Given the description of an element on the screen output the (x, y) to click on. 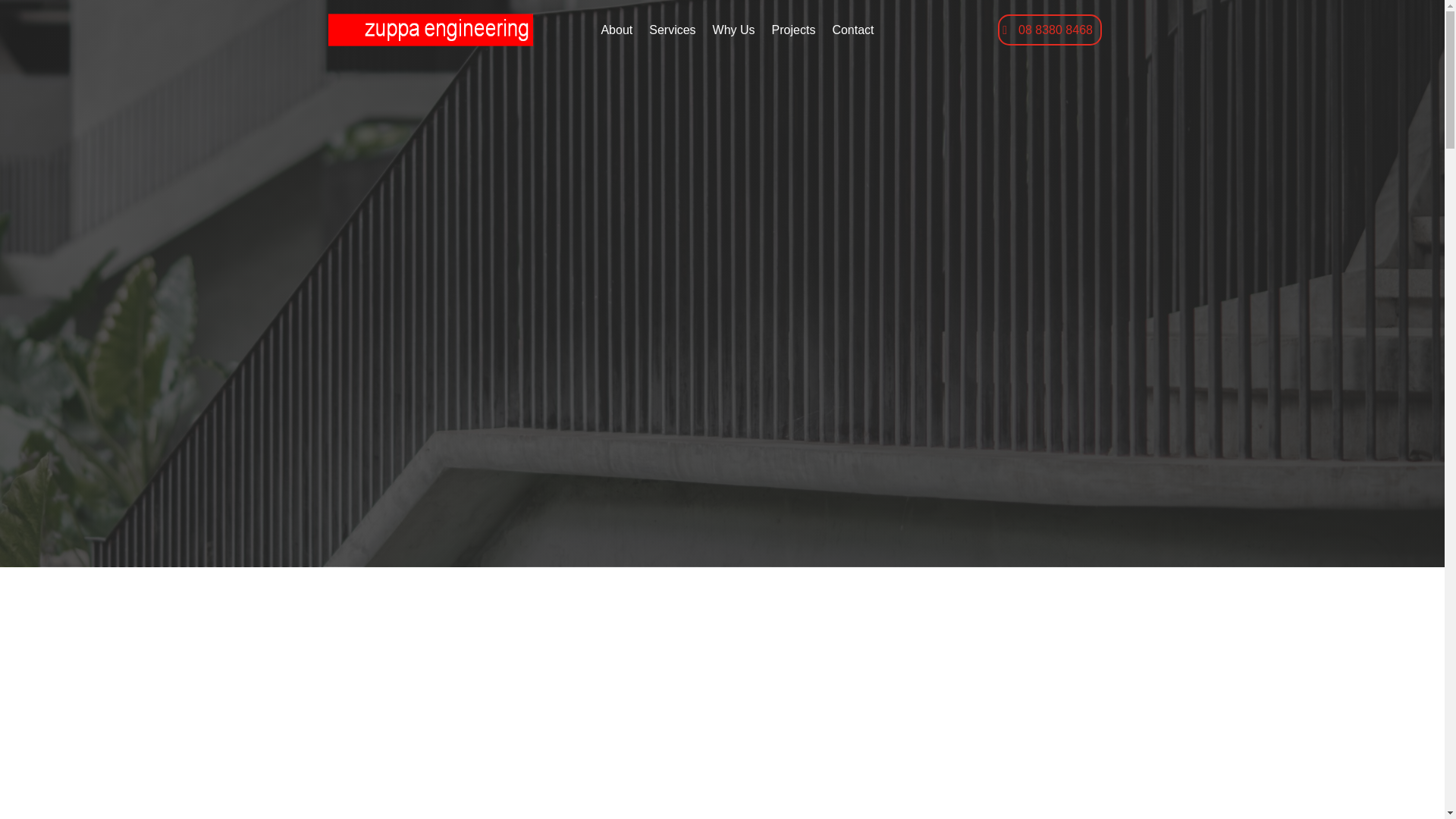
Projects (793, 32)
Contact (852, 32)
Why Us (734, 32)
08 8380 8468 (1049, 29)
Services (672, 32)
About (615, 32)
